Given the description of an element on the screen output the (x, y) to click on. 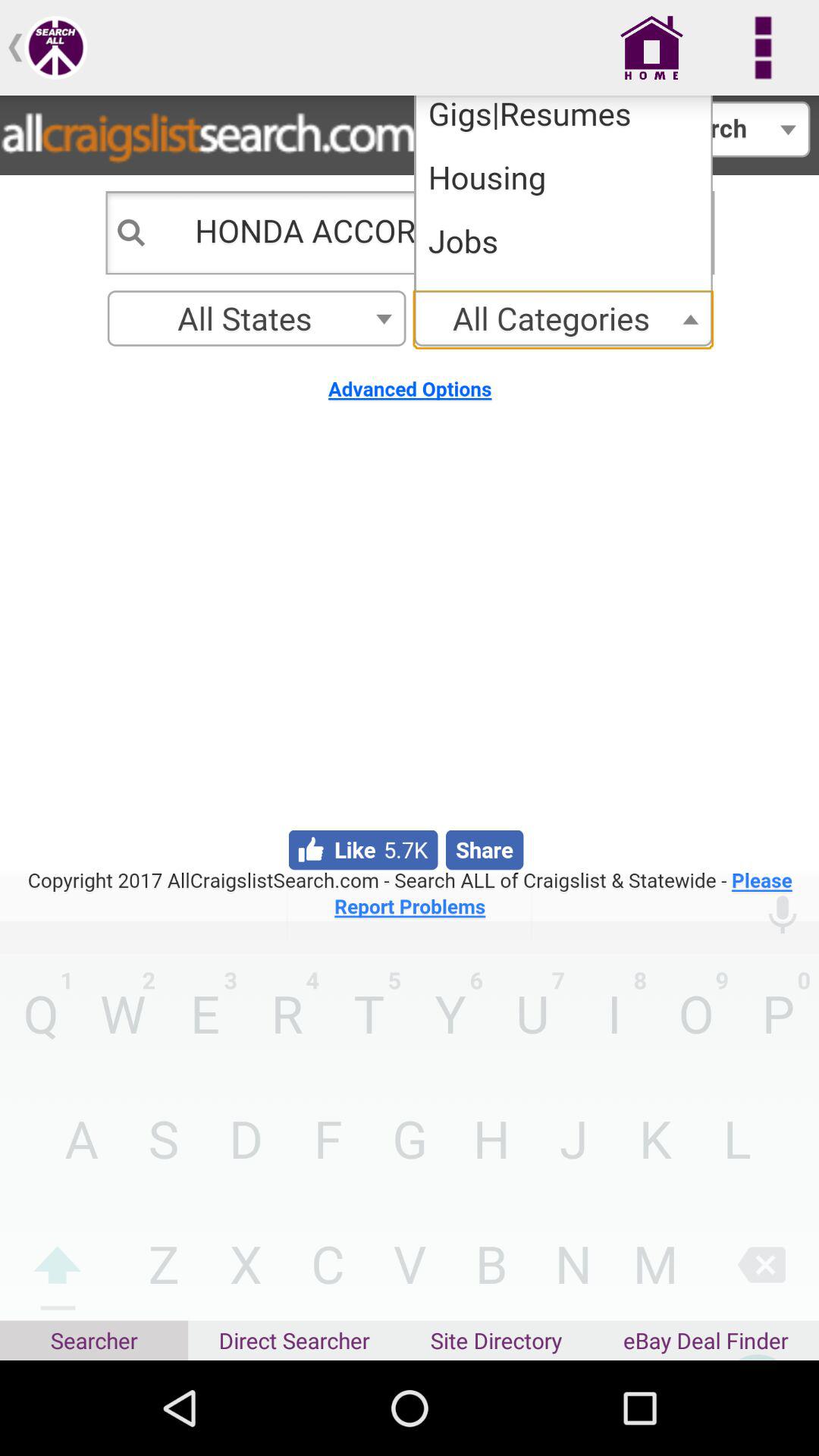
allcraigslist.search.com screen (409, 508)
